Given the description of an element on the screen output the (x, y) to click on. 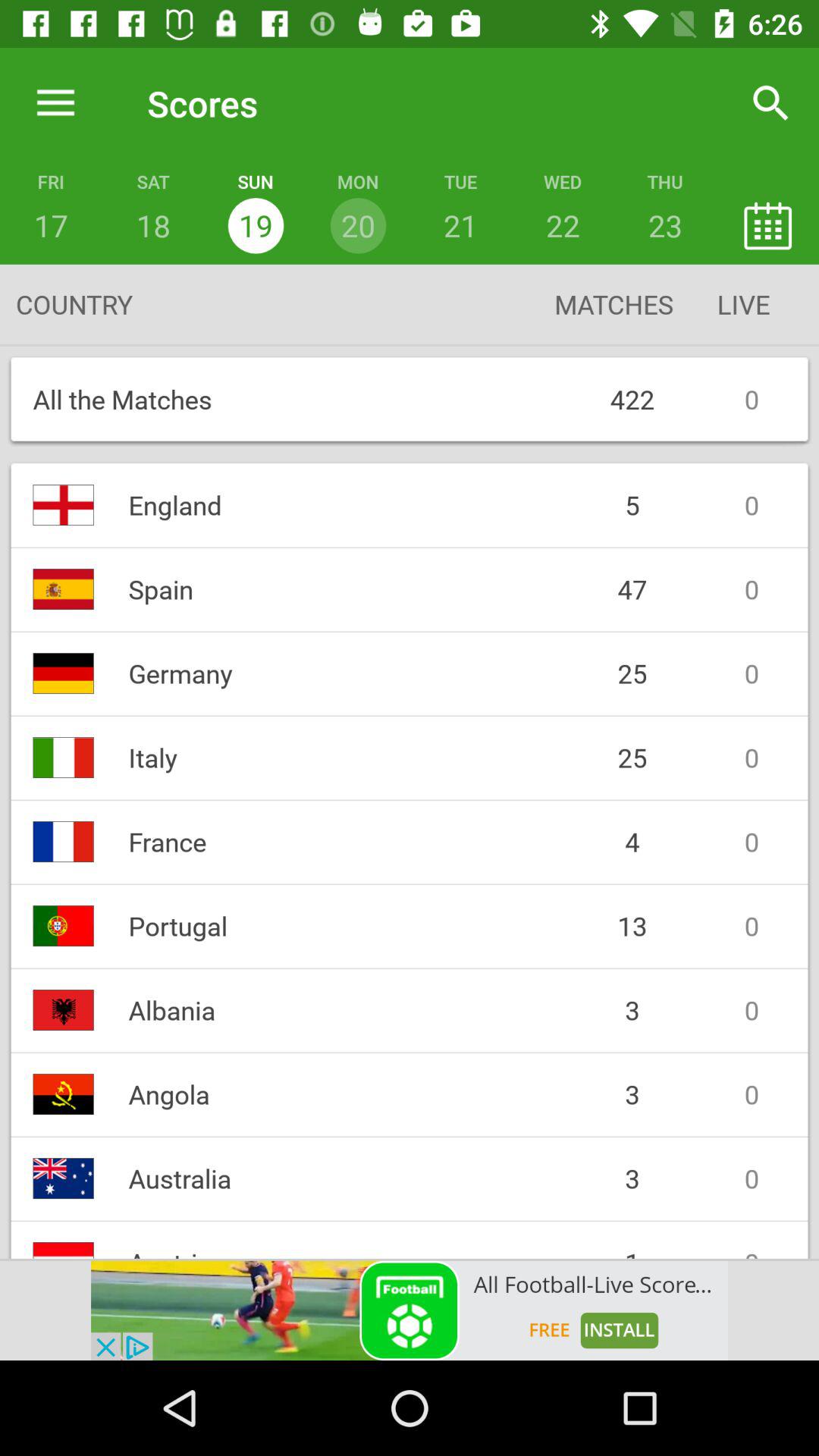
open advertisement (409, 1310)
